Given the description of an element on the screen output the (x, y) to click on. 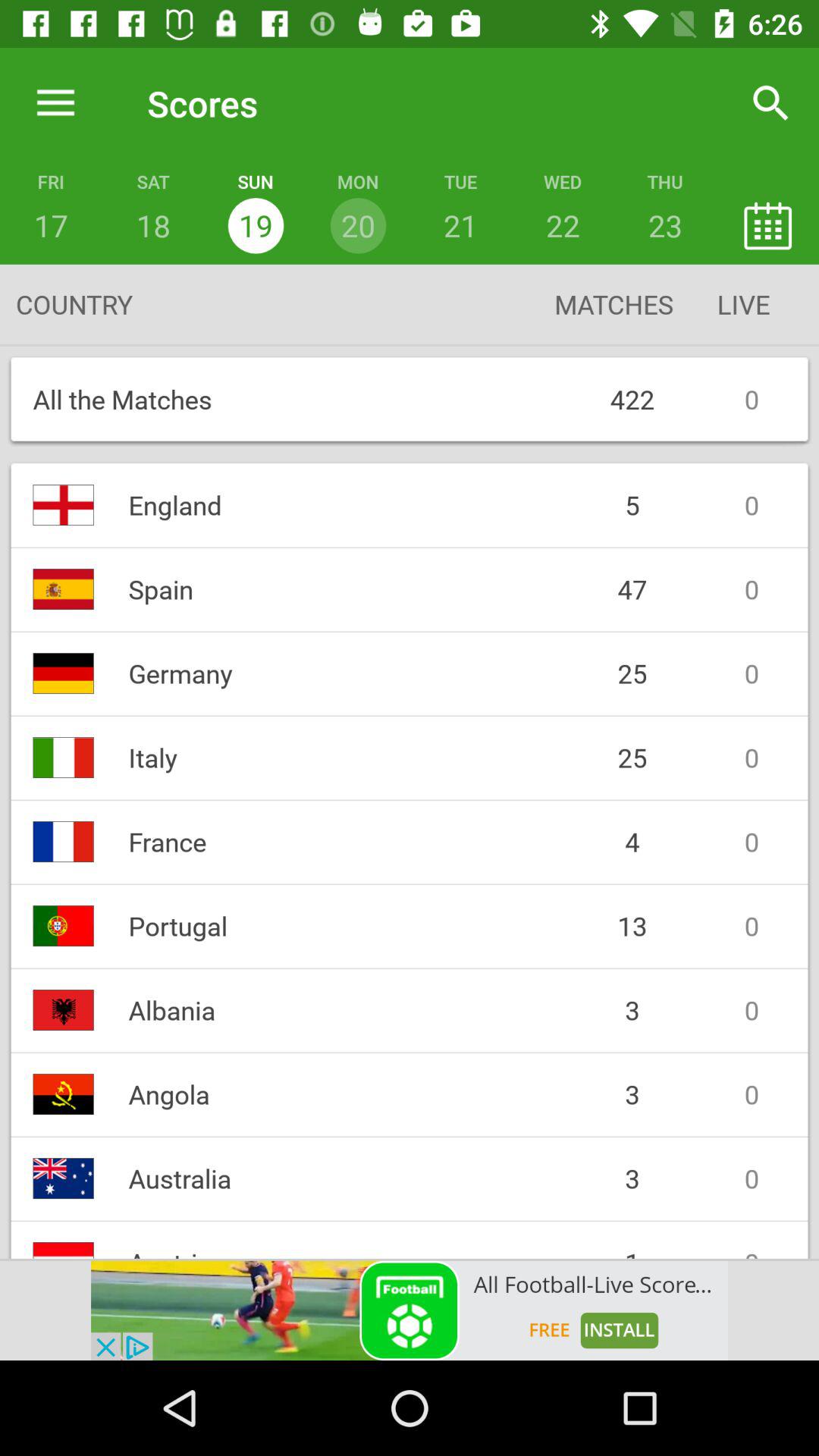
open advertisement (409, 1310)
